Given the description of an element on the screen output the (x, y) to click on. 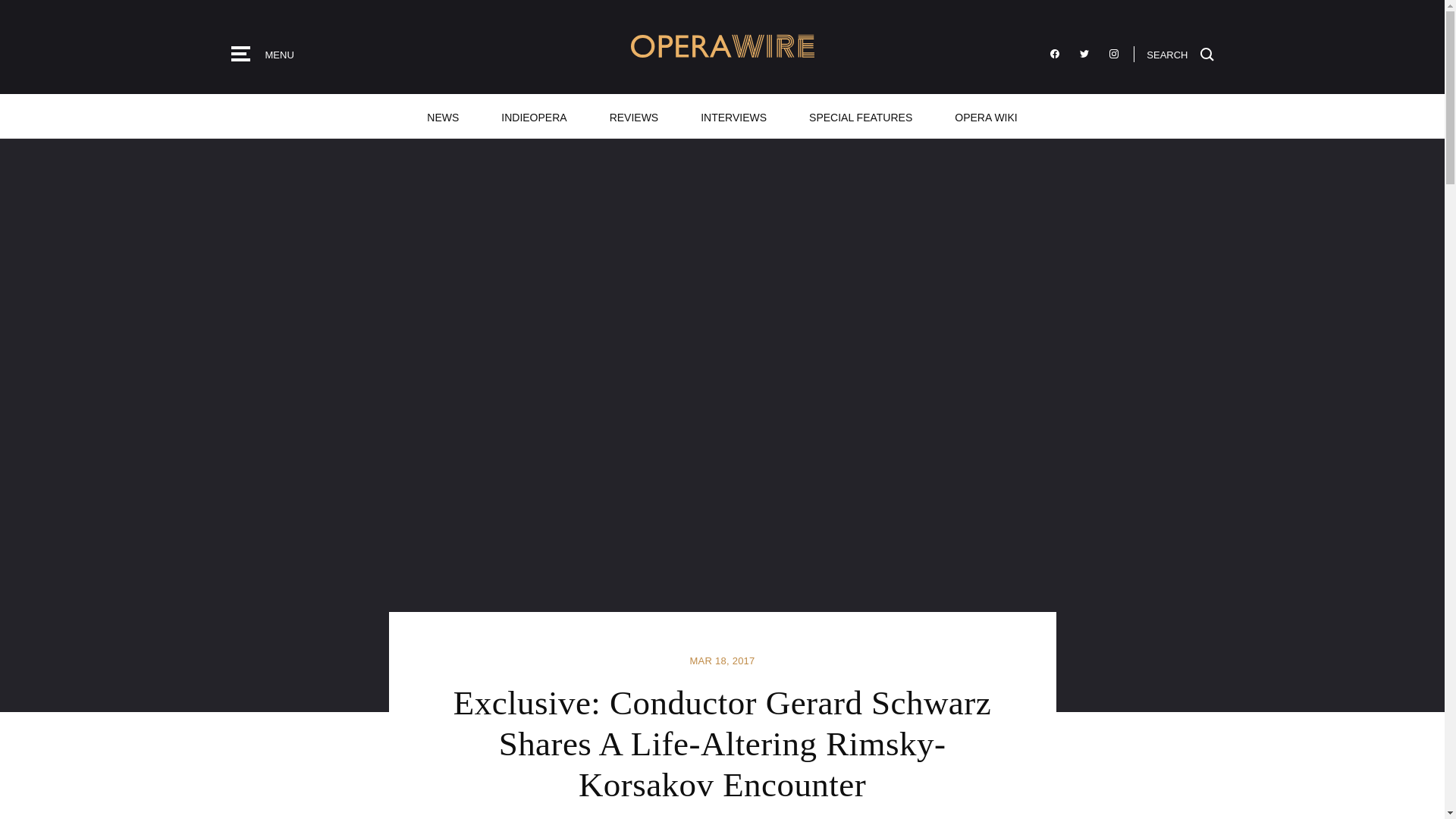
INDIEOPERA (533, 116)
SPECIAL FEATURES (860, 116)
Follow OperaWire on Instagram (1113, 53)
INTERVIEWS (733, 116)
NEWS (443, 116)
REVIEWS (633, 116)
SEARCH (1179, 53)
OPERA WIKI (985, 116)
Follow OperaWire on Twitter (1084, 53)
Like OperaWire on Facebook (1054, 53)
